Given the description of an element on the screen output the (x, y) to click on. 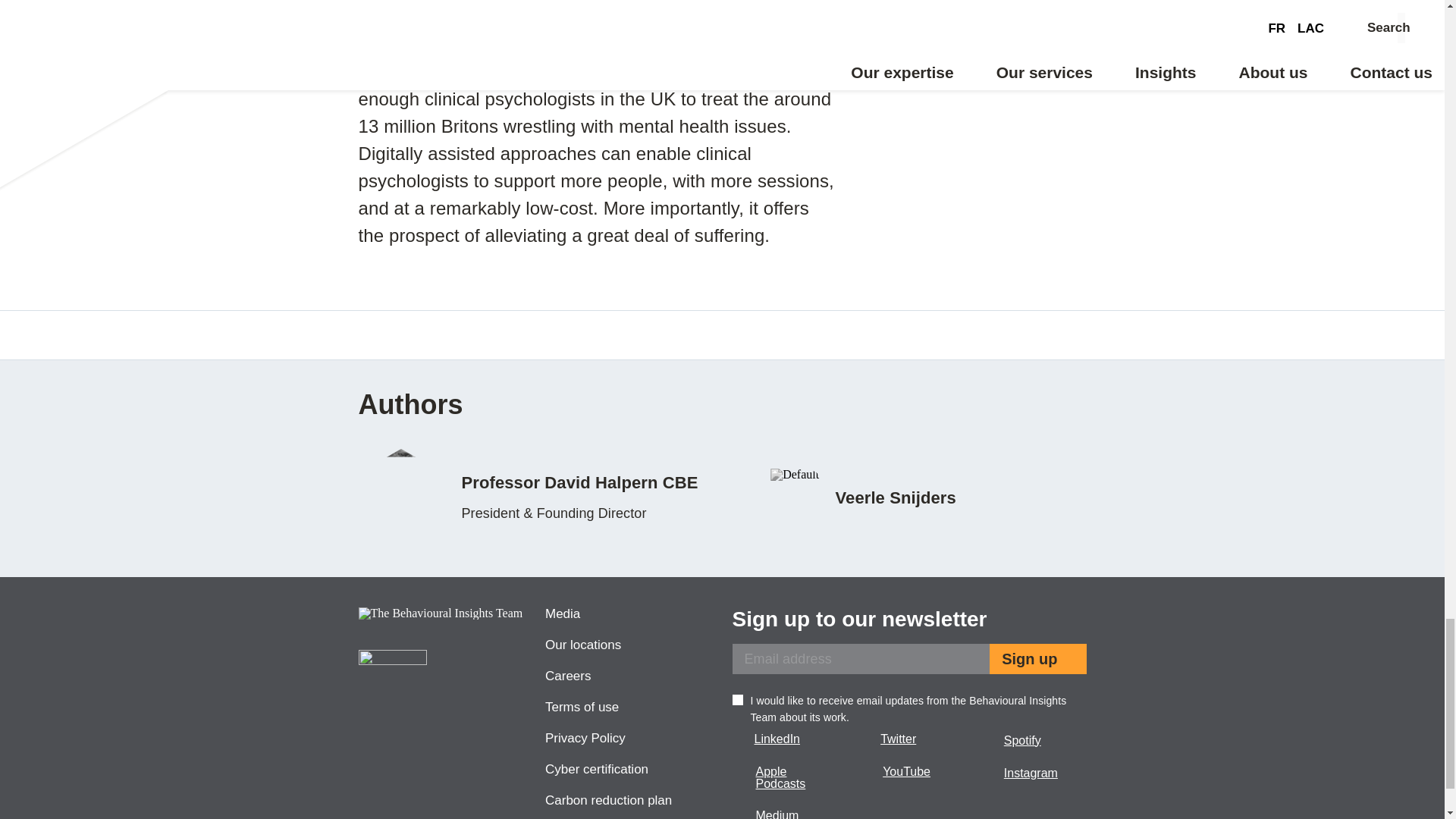
Instagram (1032, 772)
Share on Twitter (365, 334)
YouTube (909, 771)
Professor David Halpern CBE (534, 497)
Twitter (909, 739)
Share via Email (473, 334)
Spotify (1032, 740)
Share on LinkedIn (435, 334)
Share on Facebook (400, 333)
Apple Podcasts (785, 777)
LinkedIn (785, 739)
